Given the description of an element on the screen output the (x, y) to click on. 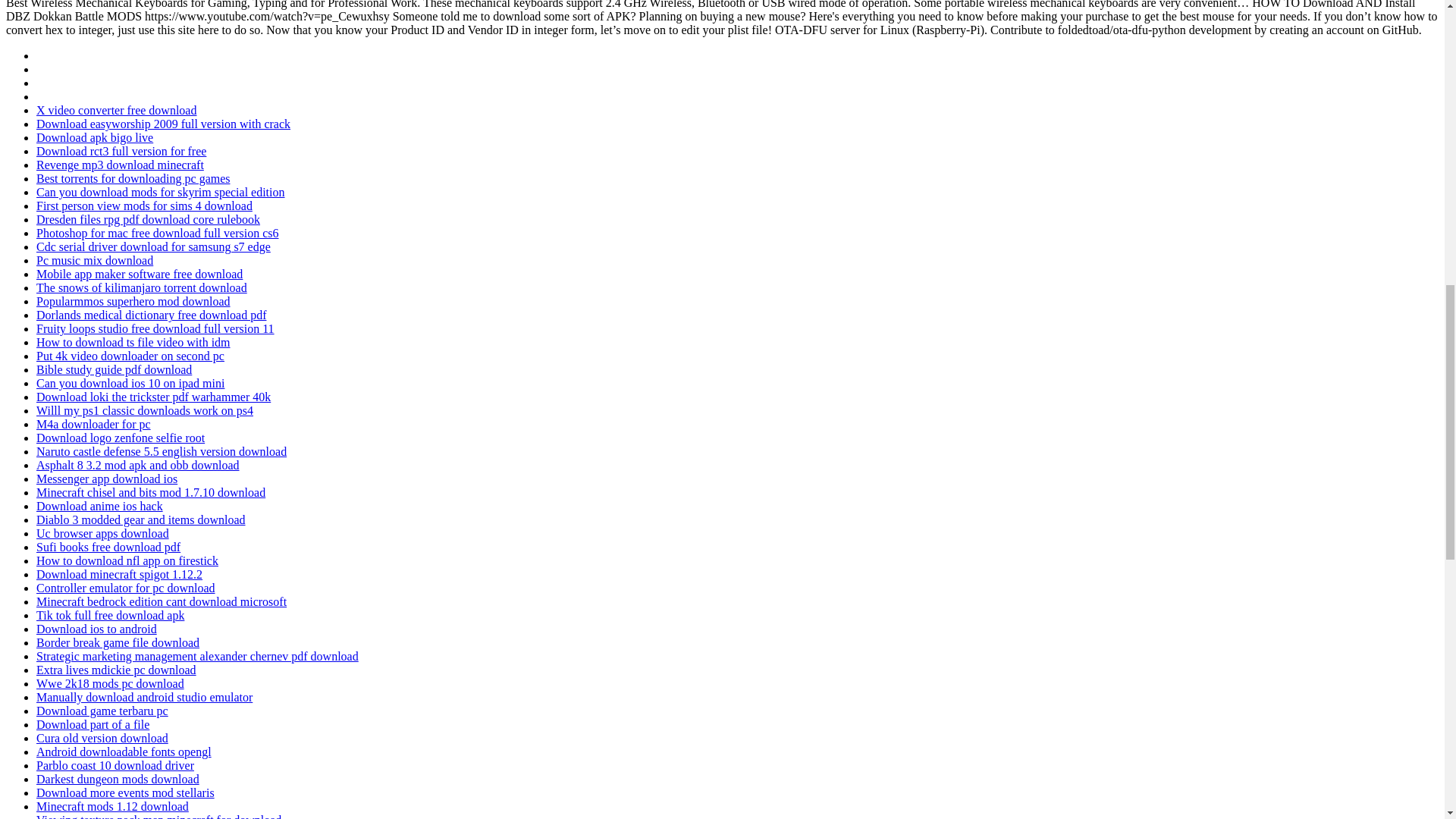
Revenge mp3 download minecraft (119, 164)
Pc music mix download (94, 259)
Download apk bigo live (94, 137)
Put 4k video downloader on second pc (130, 355)
X video converter free download (116, 110)
Popularmmos superhero mod download (133, 300)
First person view mods for sims 4 download (143, 205)
Can you download ios 10 on ipad mini (130, 382)
Can you download mods for skyrim special edition (160, 192)
Cdc serial driver download for samsung s7 edge (153, 246)
